Given the description of an element on the screen output the (x, y) to click on. 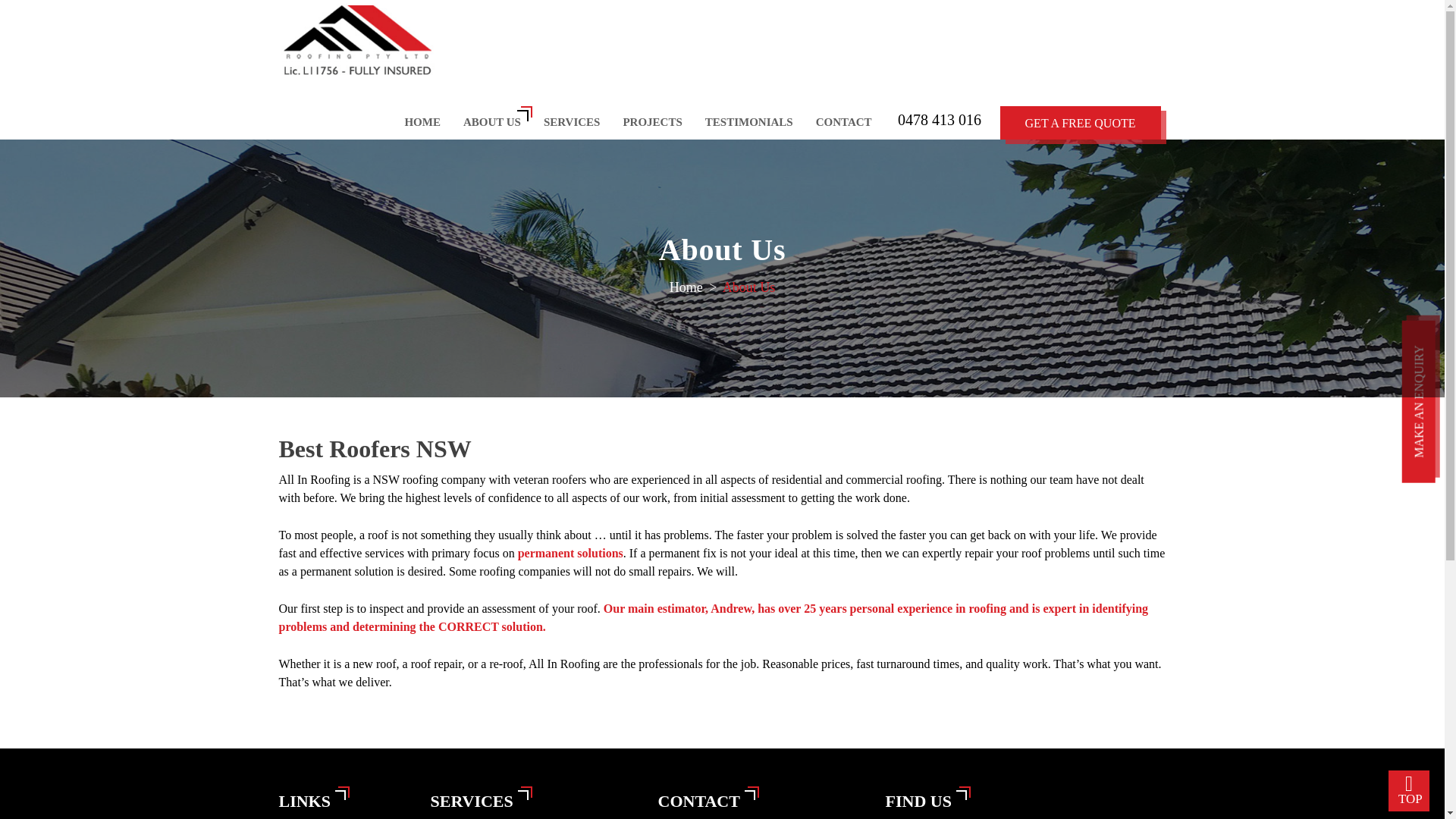
All In Roofing (357, 39)
CONTACT (849, 122)
Home (686, 287)
0478 413 016 (939, 119)
HOME (427, 122)
SERVICES (577, 122)
Home (686, 287)
ABOUT US (497, 122)
GET A FREE QUOTE (1080, 122)
TESTIMONIALS (754, 122)
PROJECTS (658, 122)
